Given the description of an element on the screen output the (x, y) to click on. 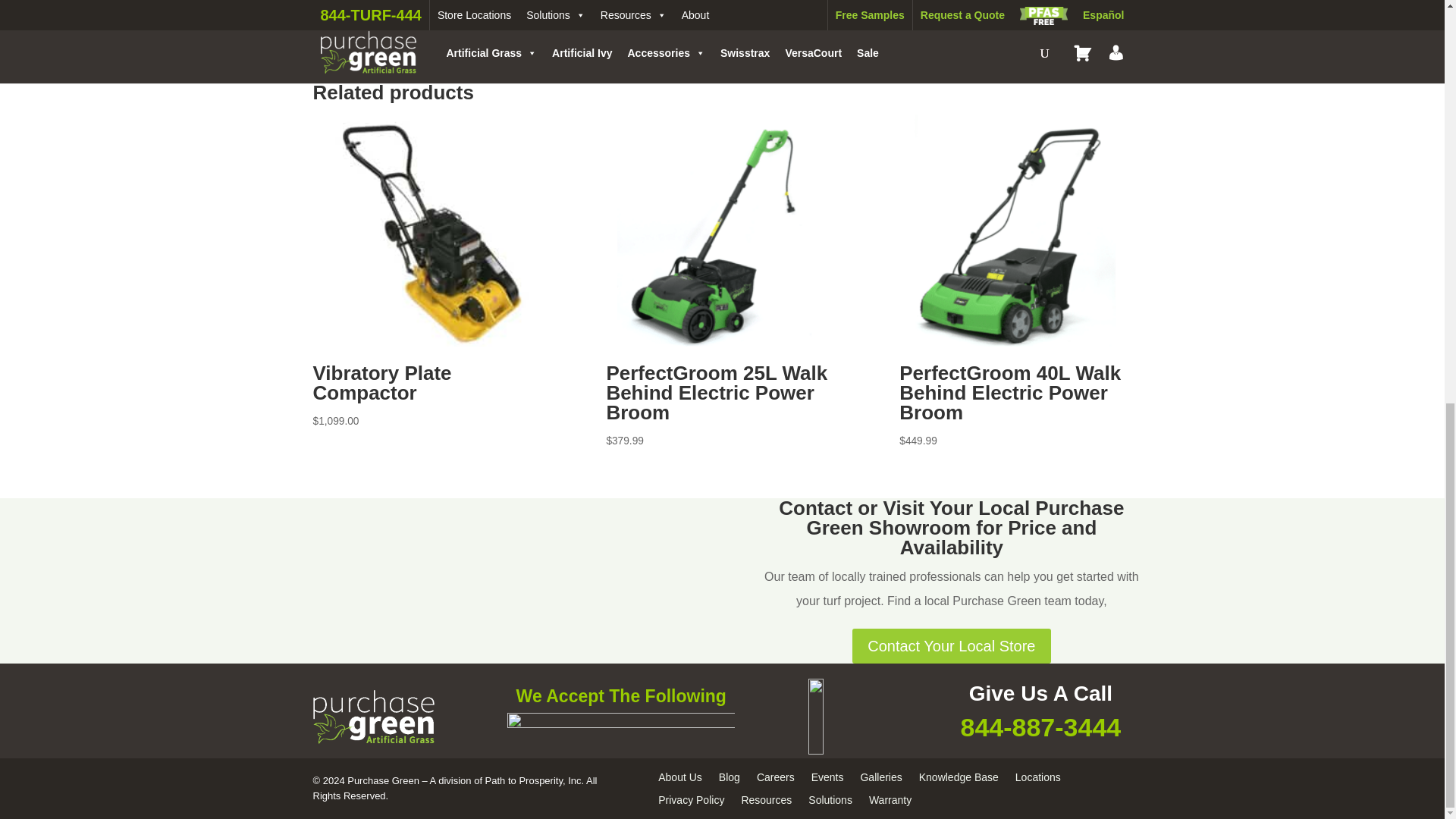
PFAS Free Shield (845, 716)
logo-dark-2023 (373, 717)
cards-accepted (620, 729)
